Given the description of an element on the screen output the (x, y) to click on. 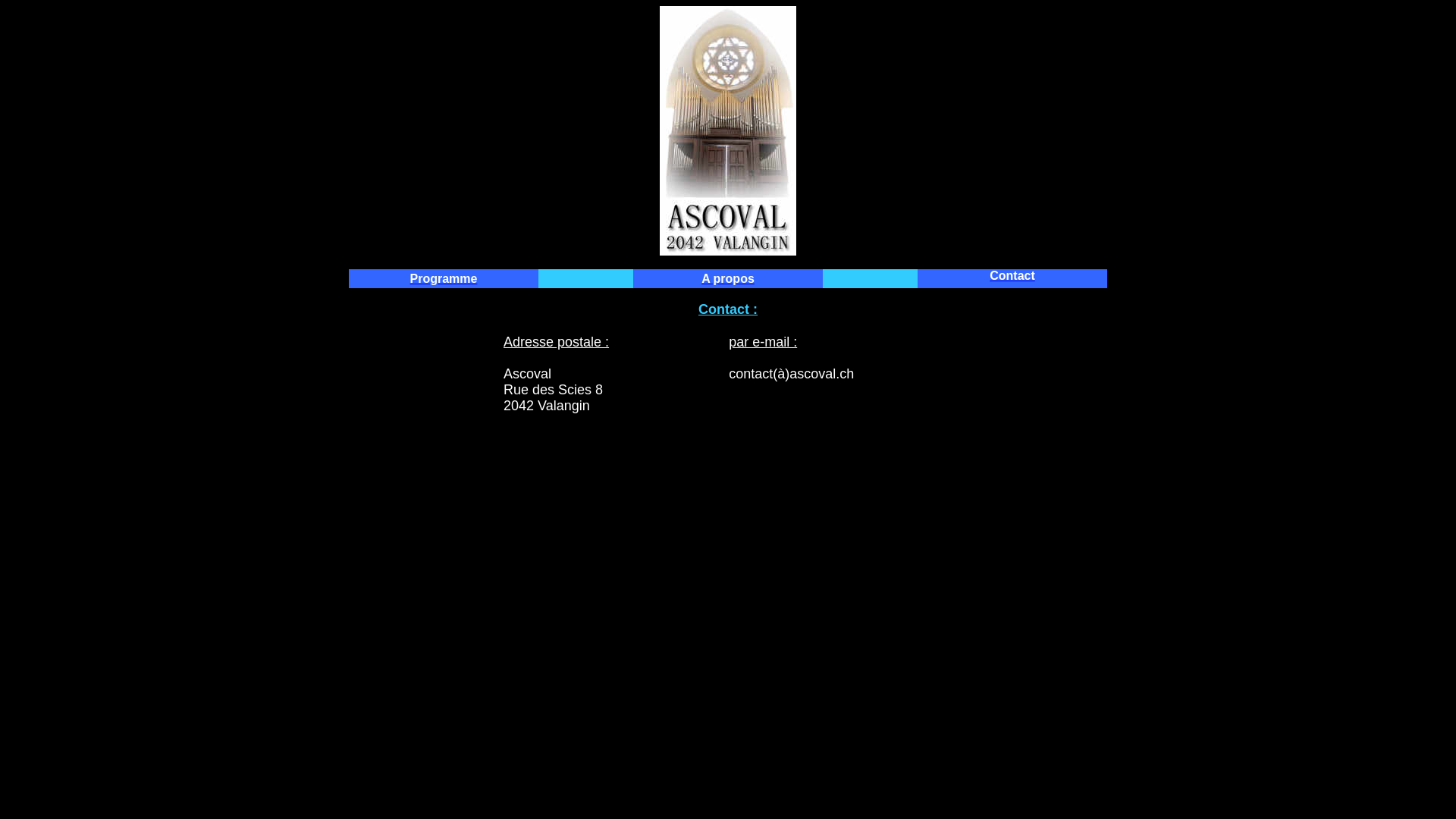
Contact Element type: text (1012, 275)
A propos Element type: text (727, 277)
Programme Element type: text (443, 277)
